Given the description of an element on the screen output the (x, y) to click on. 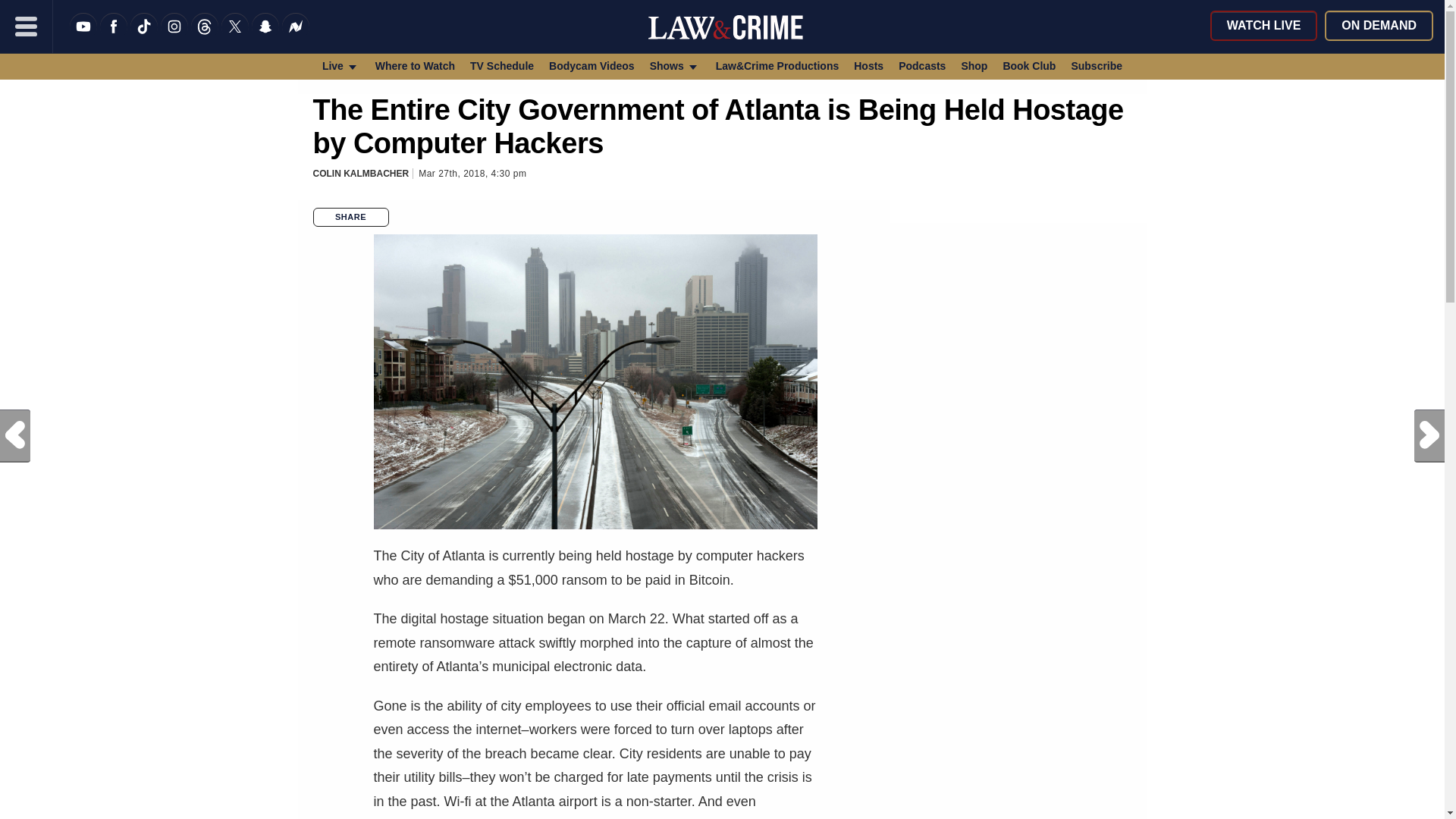
Like us on Facebook (114, 35)
Threads (204, 35)
Snapchat (265, 35)
TikTok (144, 35)
YouTube (83, 35)
Instagram (173, 35)
